Given the description of an element on the screen output the (x, y) to click on. 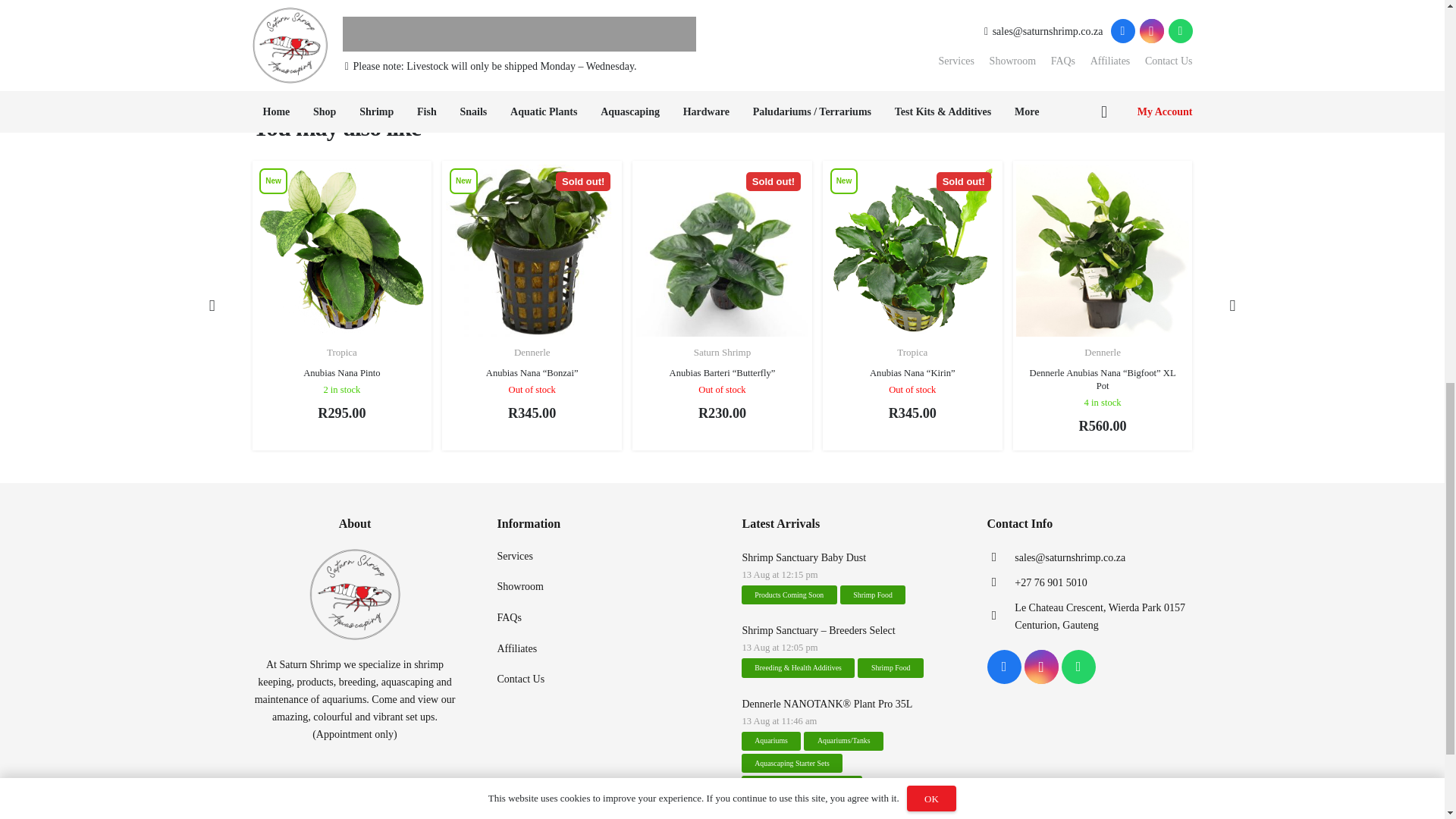
WhatsApp (1078, 666)
Back to top (30, 22)
Instagram (1040, 666)
Facebook (1004, 666)
